Given the description of an element on the screen output the (x, y) to click on. 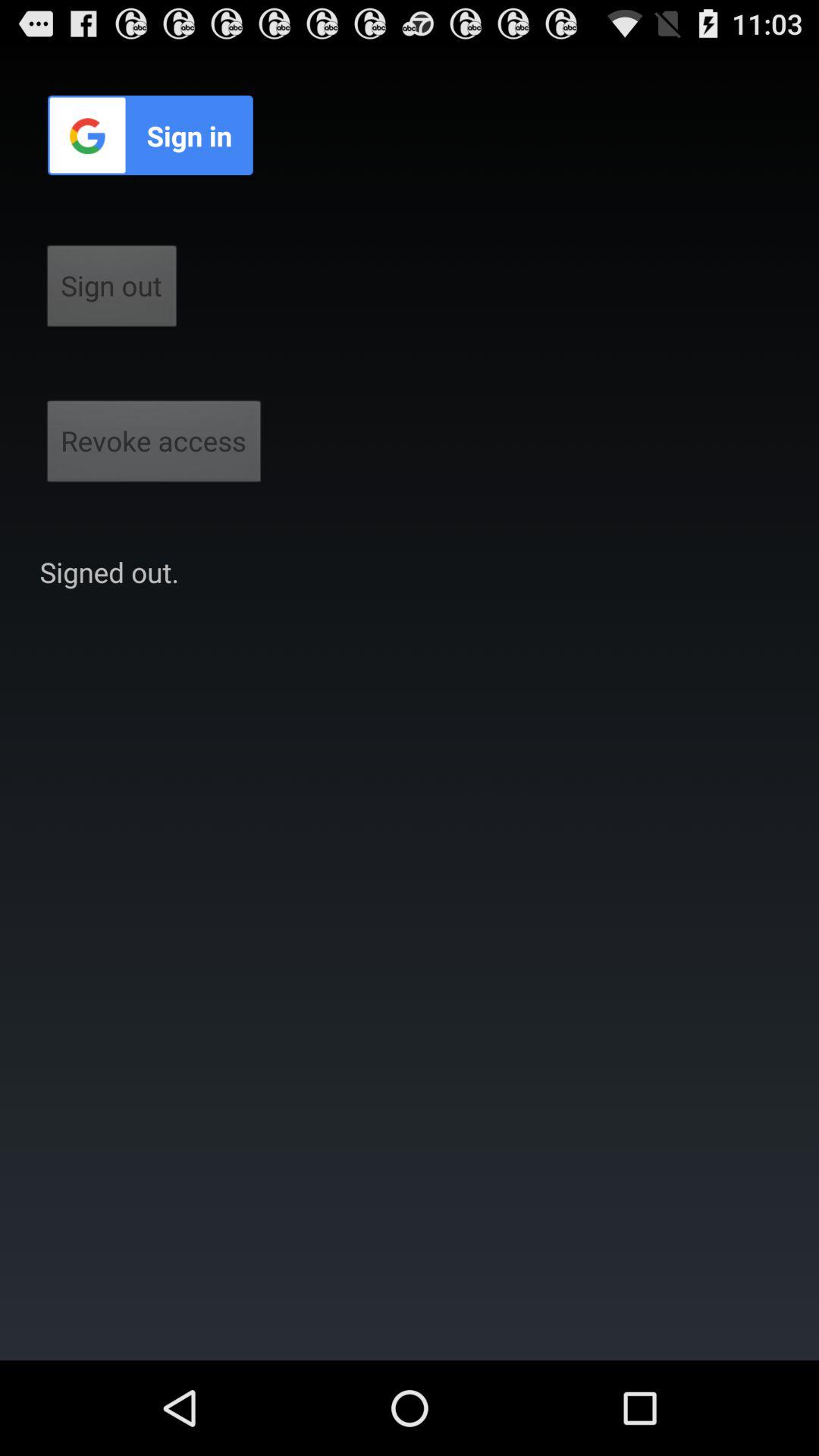
tap the app above the signed out. item (154, 445)
